Given the description of an element on the screen output the (x, y) to click on. 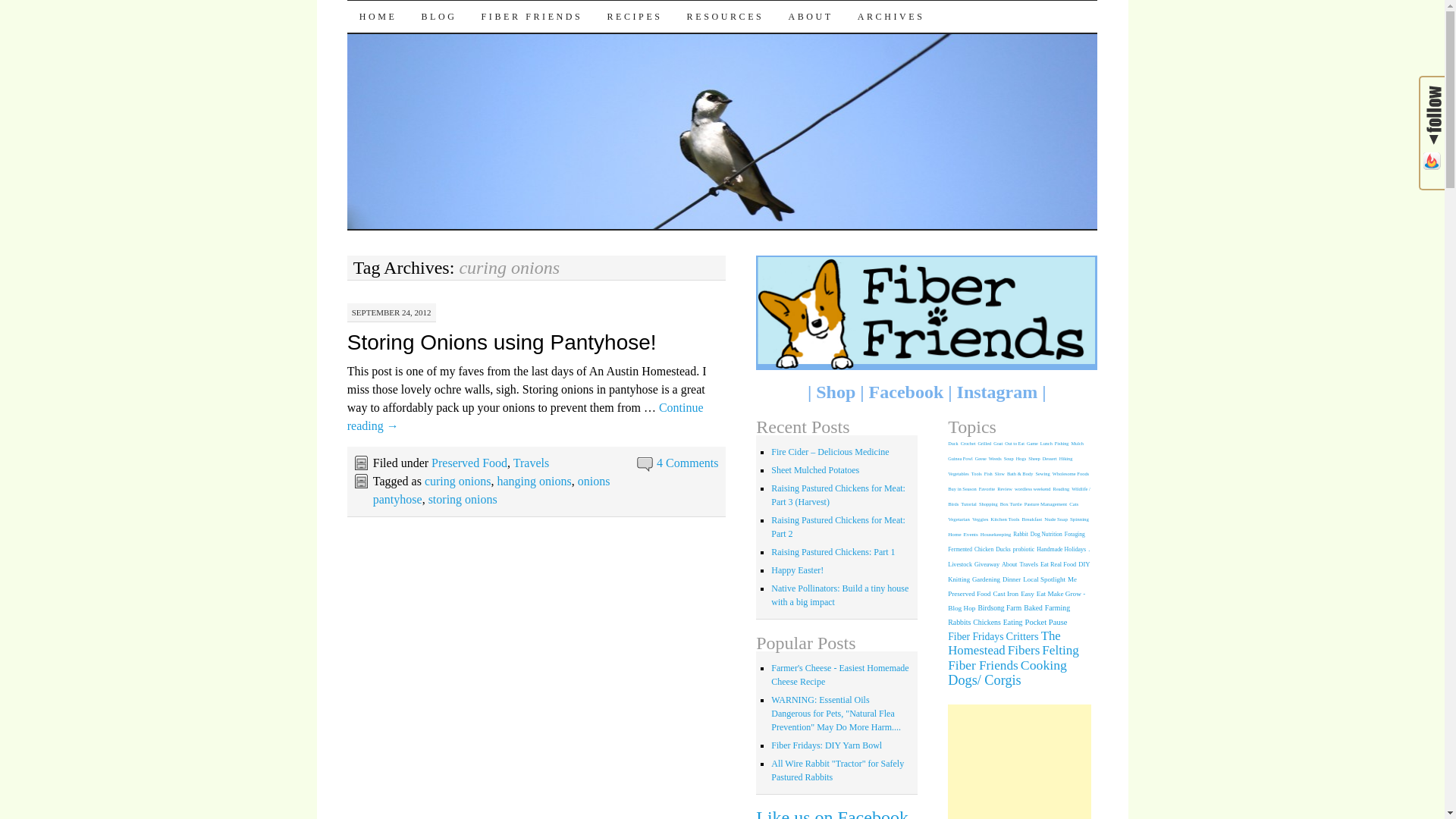
Preserved Food (468, 462)
RECIPES (634, 16)
Fiber Fridays: DIY Yarn Bowl (826, 745)
hanging onions (533, 481)
Permalink to Storing Onions using Pantyhose! (501, 341)
Facebook (906, 392)
ABOUT (810, 16)
Travels (530, 462)
Raising Pastured Chickens for Meat: Part 2 (838, 526)
BLOG (438, 16)
onions pantyhose (491, 490)
Storing Onions using Pantyhose! (501, 341)
curing onions (458, 481)
Instagram (997, 392)
